Given the description of an element on the screen output the (x, y) to click on. 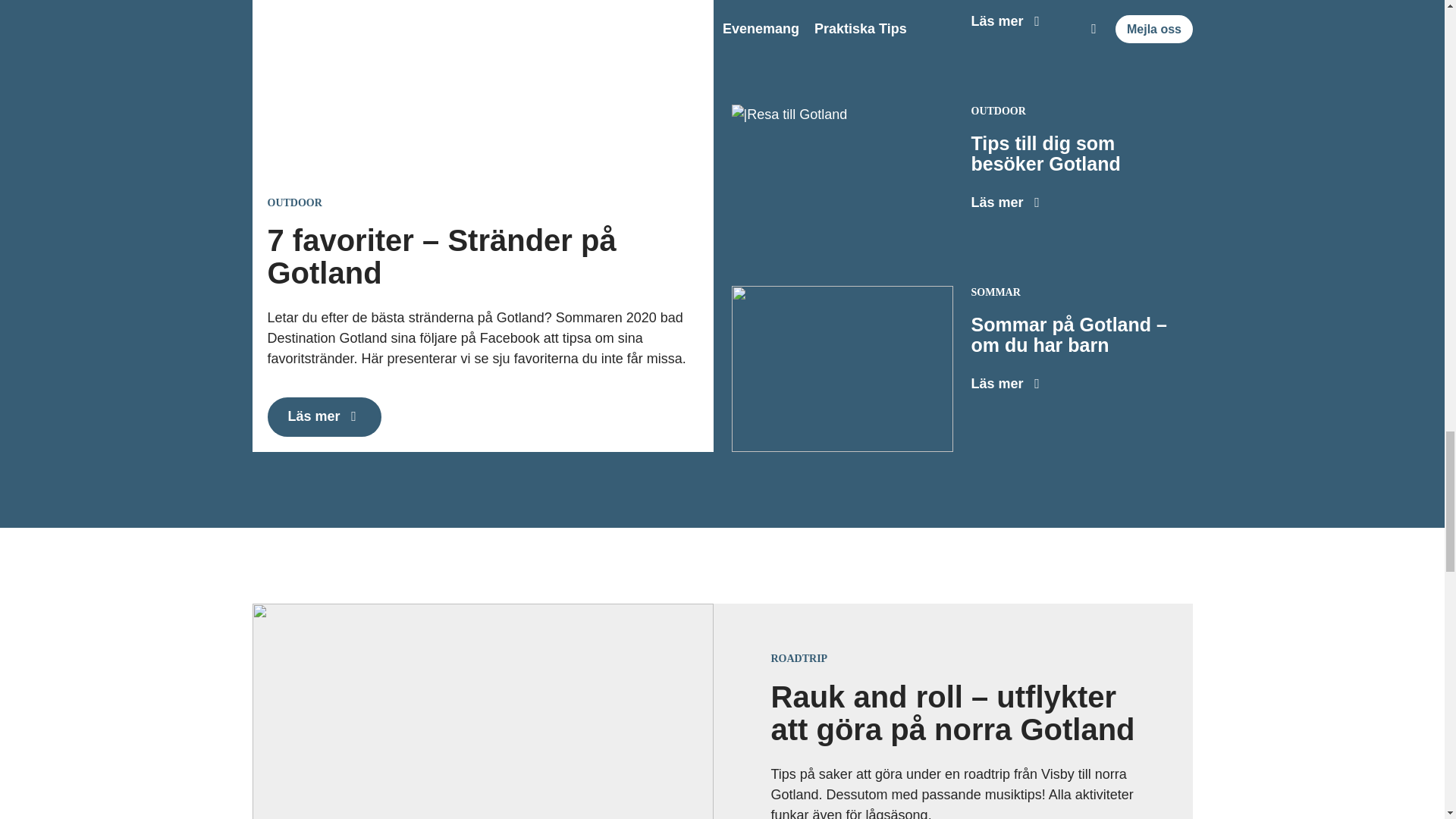
OUTDOOR (293, 202)
